Given the description of an element on the screen output the (x, y) to click on. 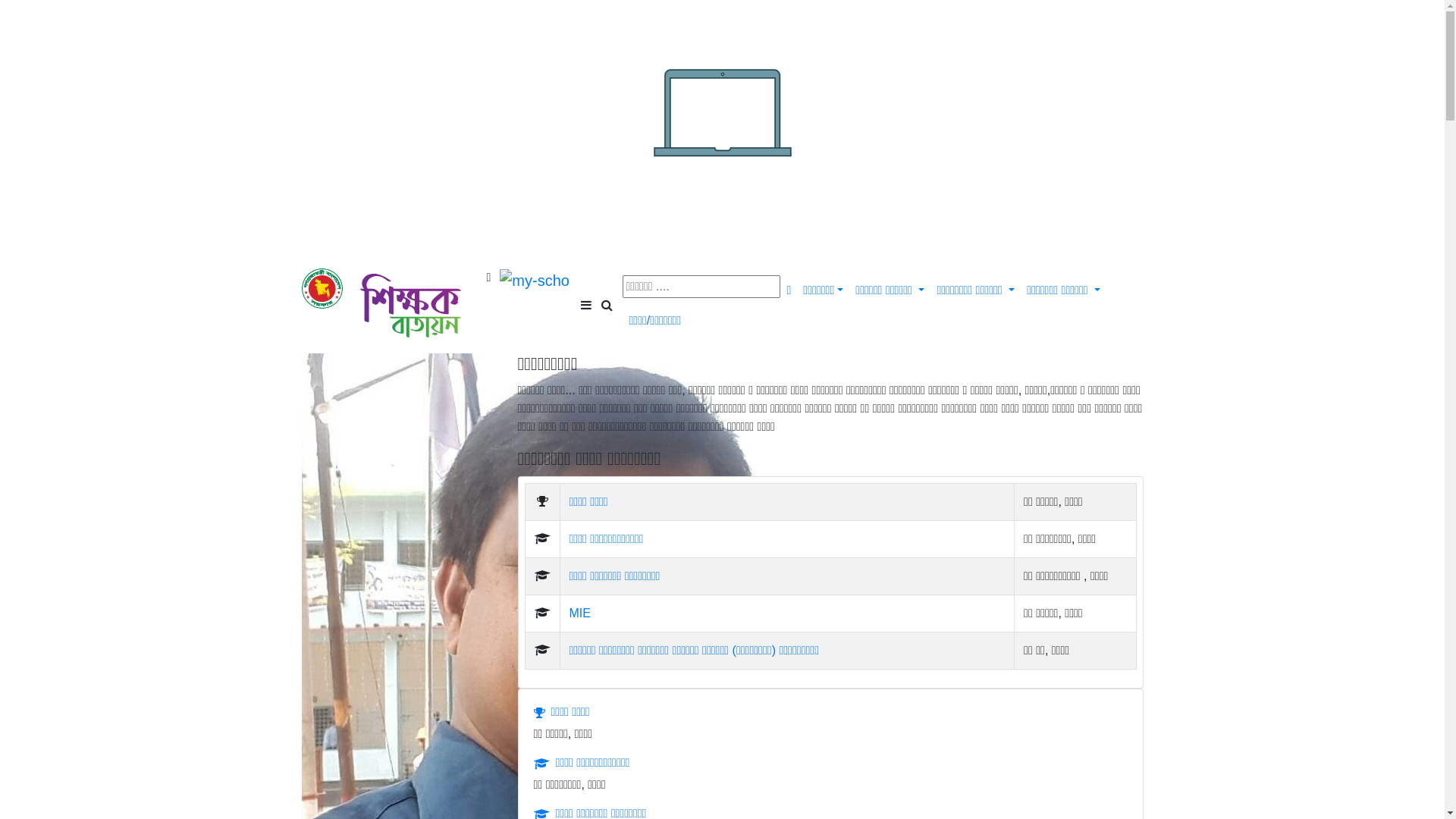
English Element type: text (1119, 242)
MIE Element type: text (786, 613)
